Given the description of an element on the screen output the (x, y) to click on. 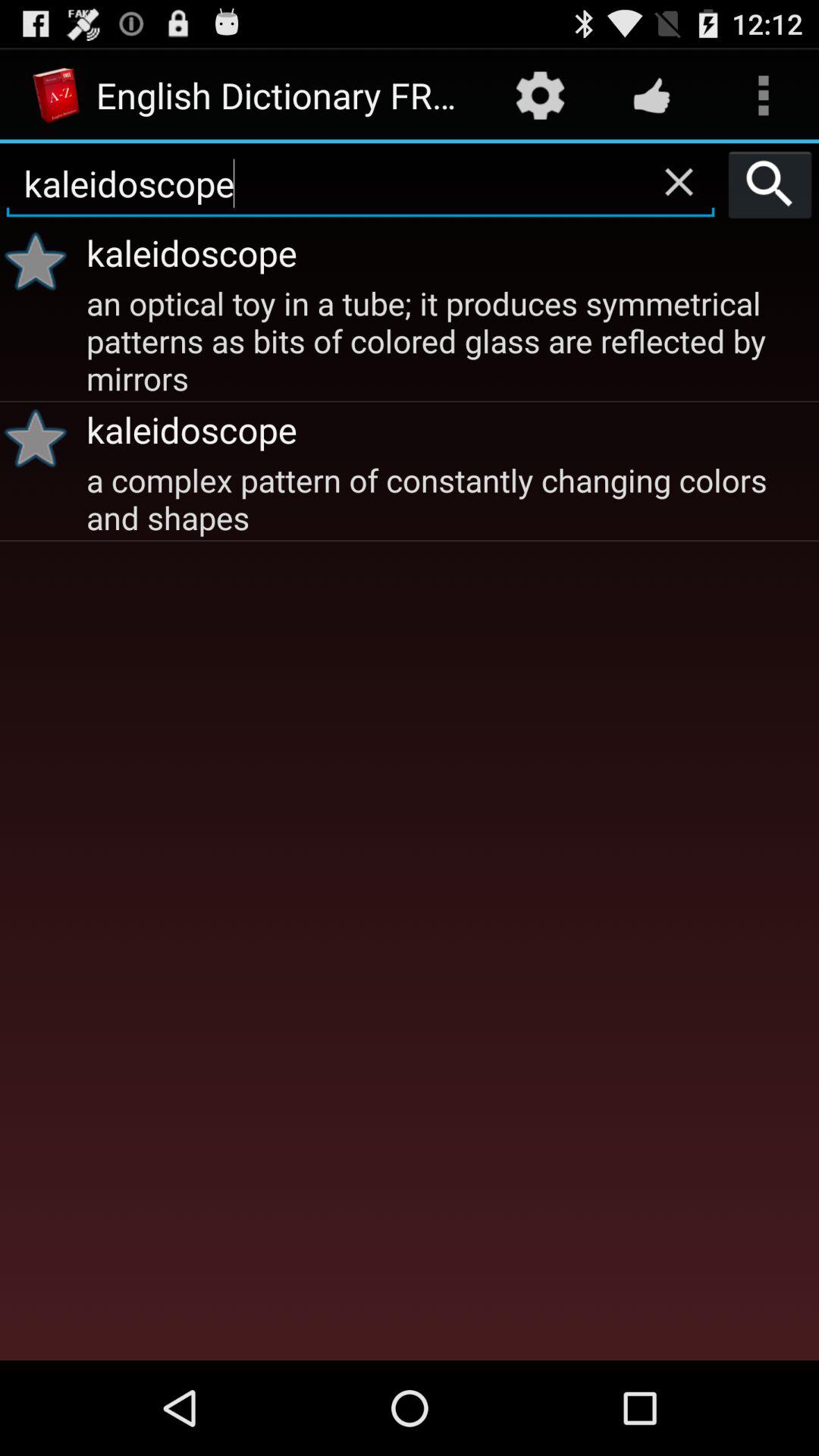
select the item to the left of an optical toy icon (41, 437)
